Given the description of an element on the screen output the (x, y) to click on. 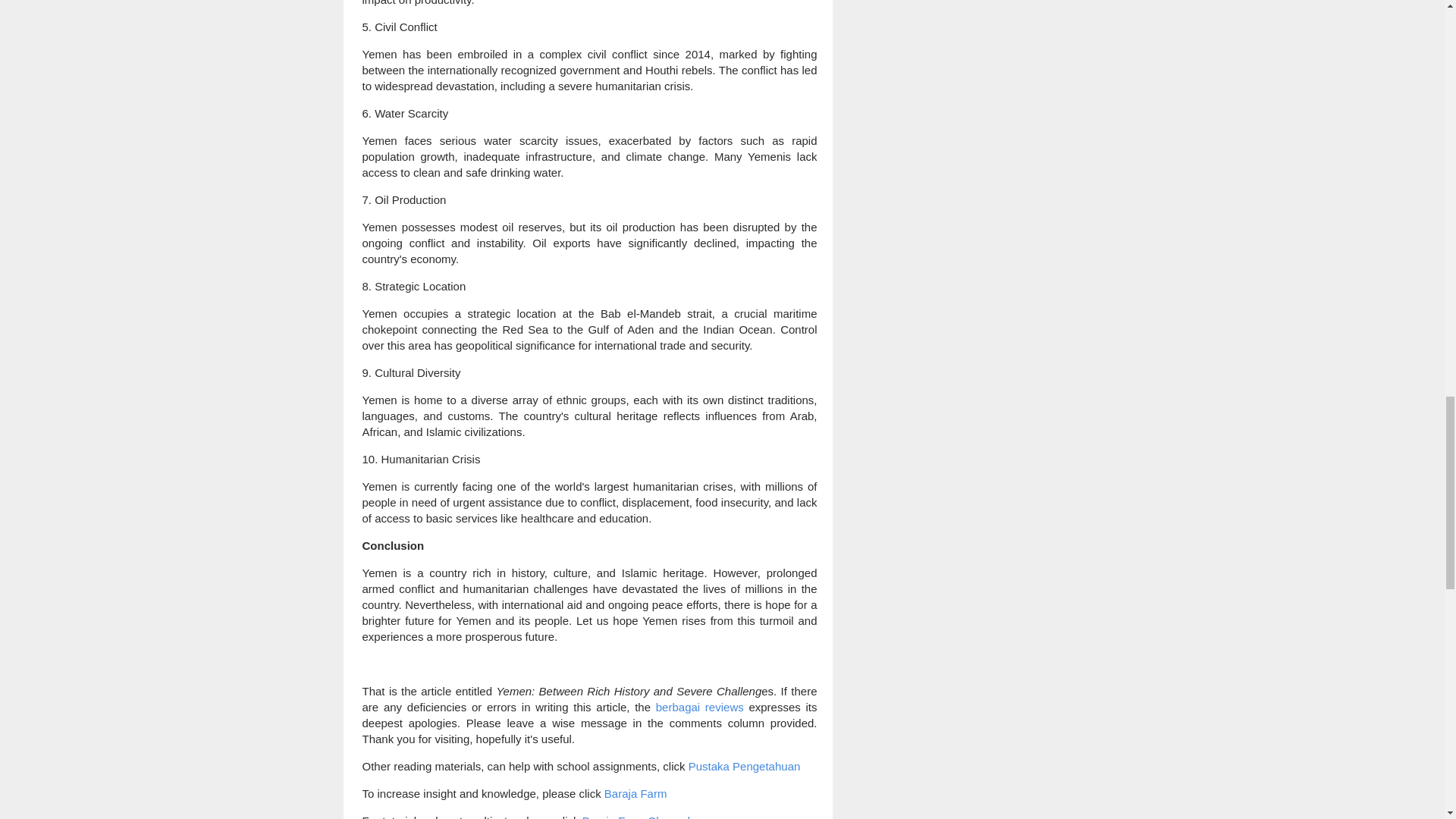
Baraja Farm (635, 793)
Baraja Farm Channel (636, 816)
Pustaka Pengetahuan (744, 766)
berbagai reviews (697, 707)
